Given the description of an element on the screen output the (x, y) to click on. 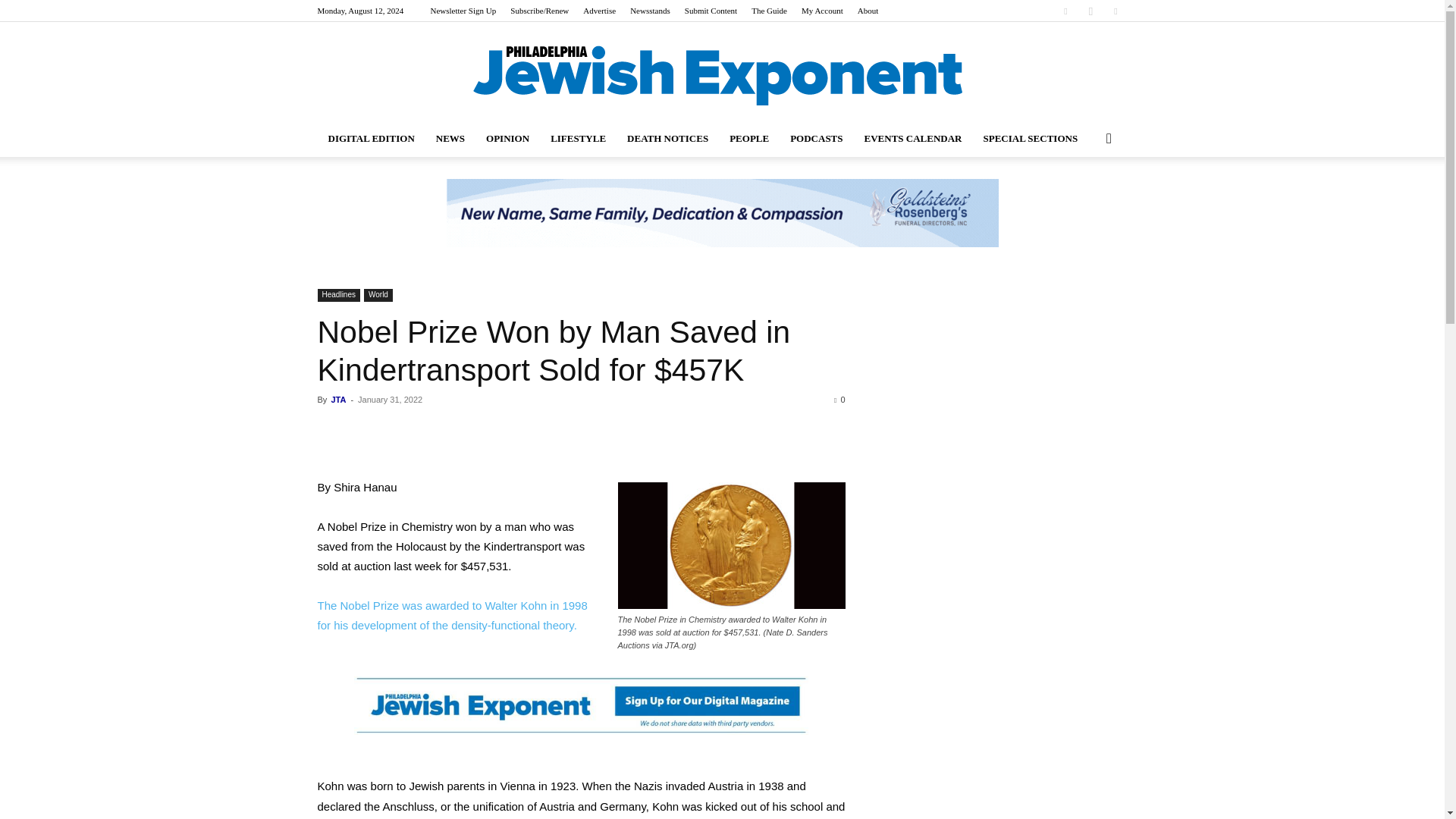
Instagram (1090, 10)
Twitter (1114, 10)
Facebook (1065, 10)
Newsletter Sign Up (462, 10)
